Given the description of an element on the screen output the (x, y) to click on. 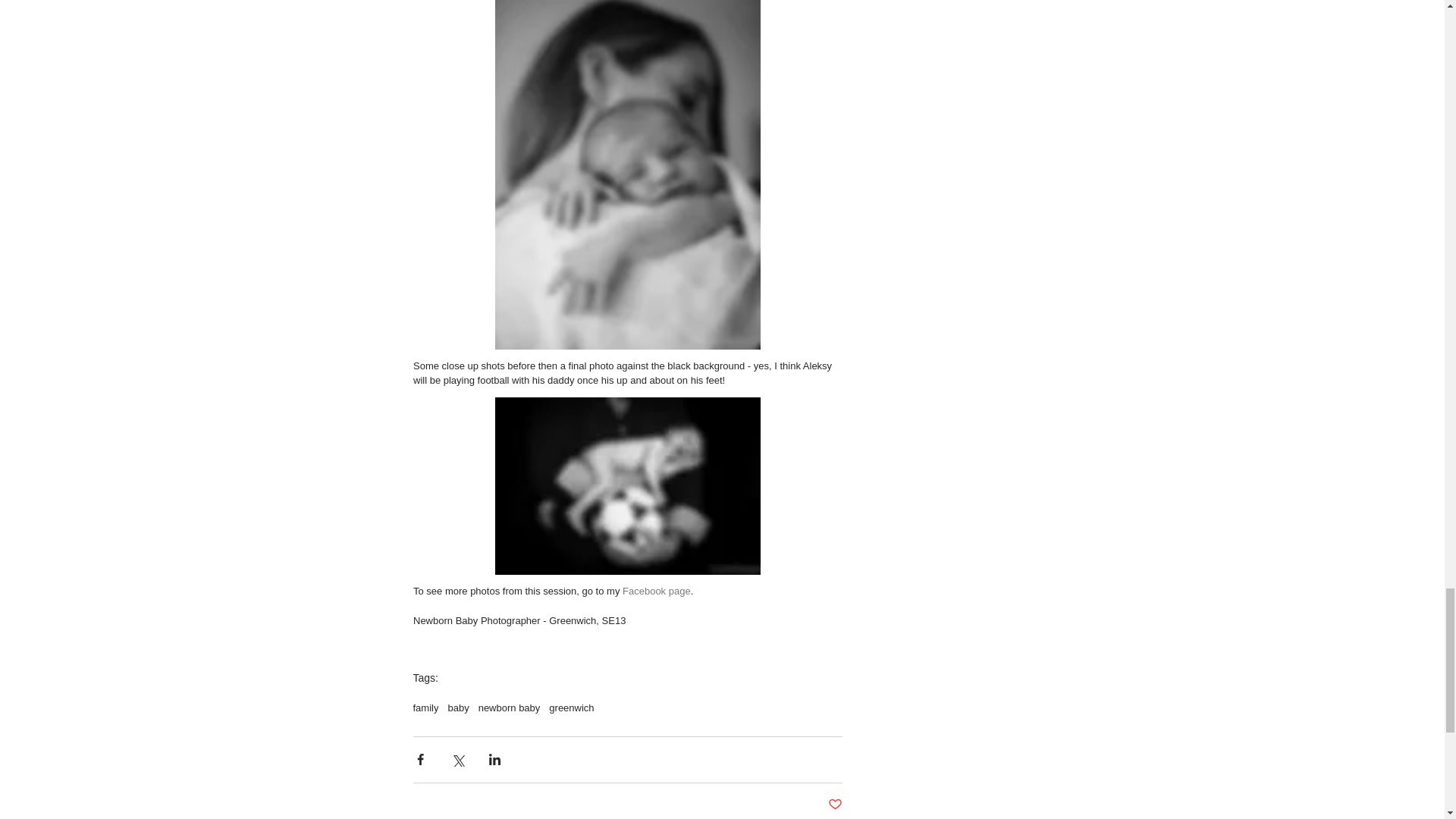
baby (457, 707)
family (425, 707)
greenwich (571, 707)
Post not marked as liked (835, 804)
newborn baby (509, 707)
Facebook page (656, 591)
